Given the description of an element on the screen output the (x, y) to click on. 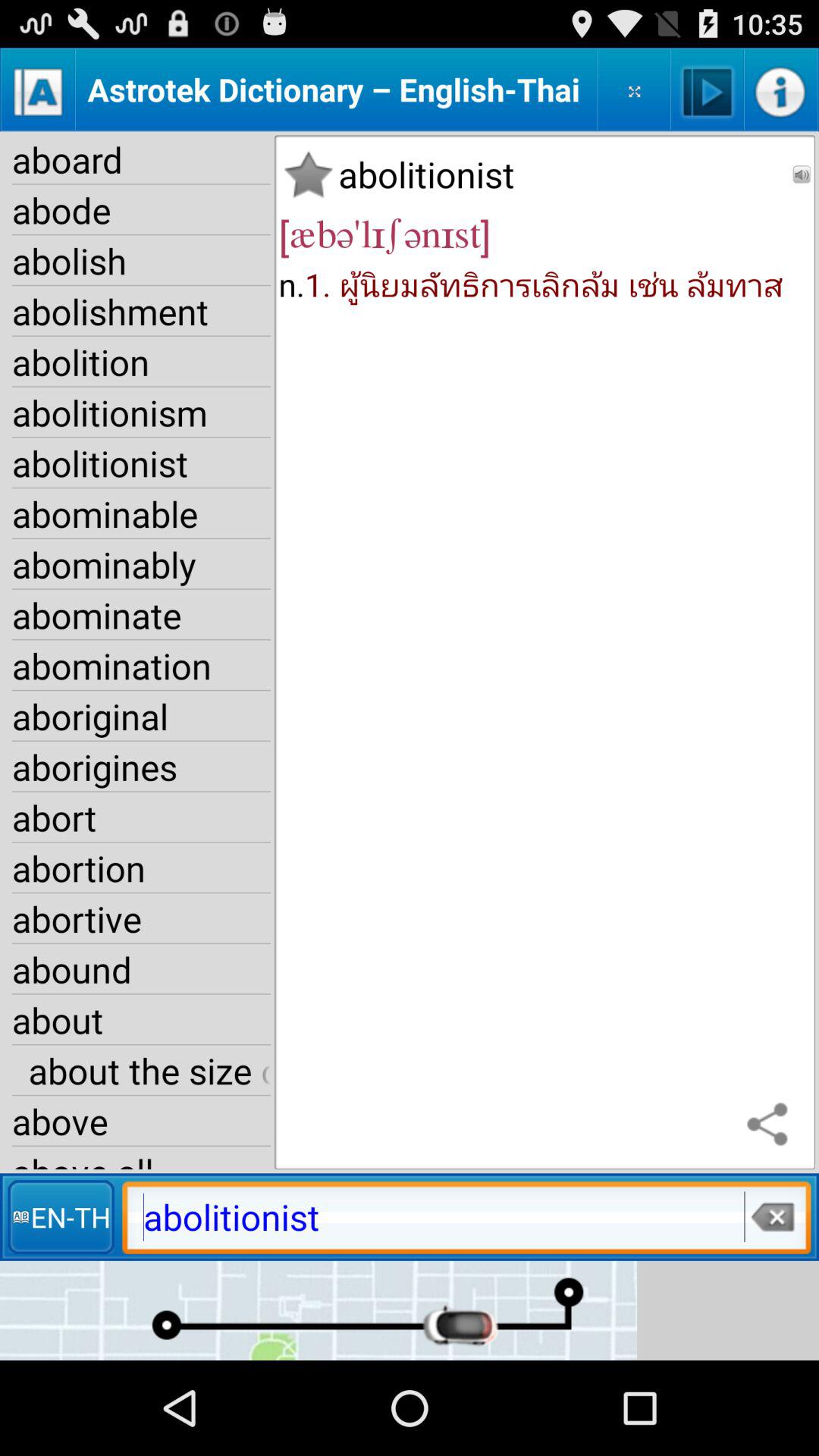
a (37, 89)
